Given the description of an element on the screen output the (x, y) to click on. 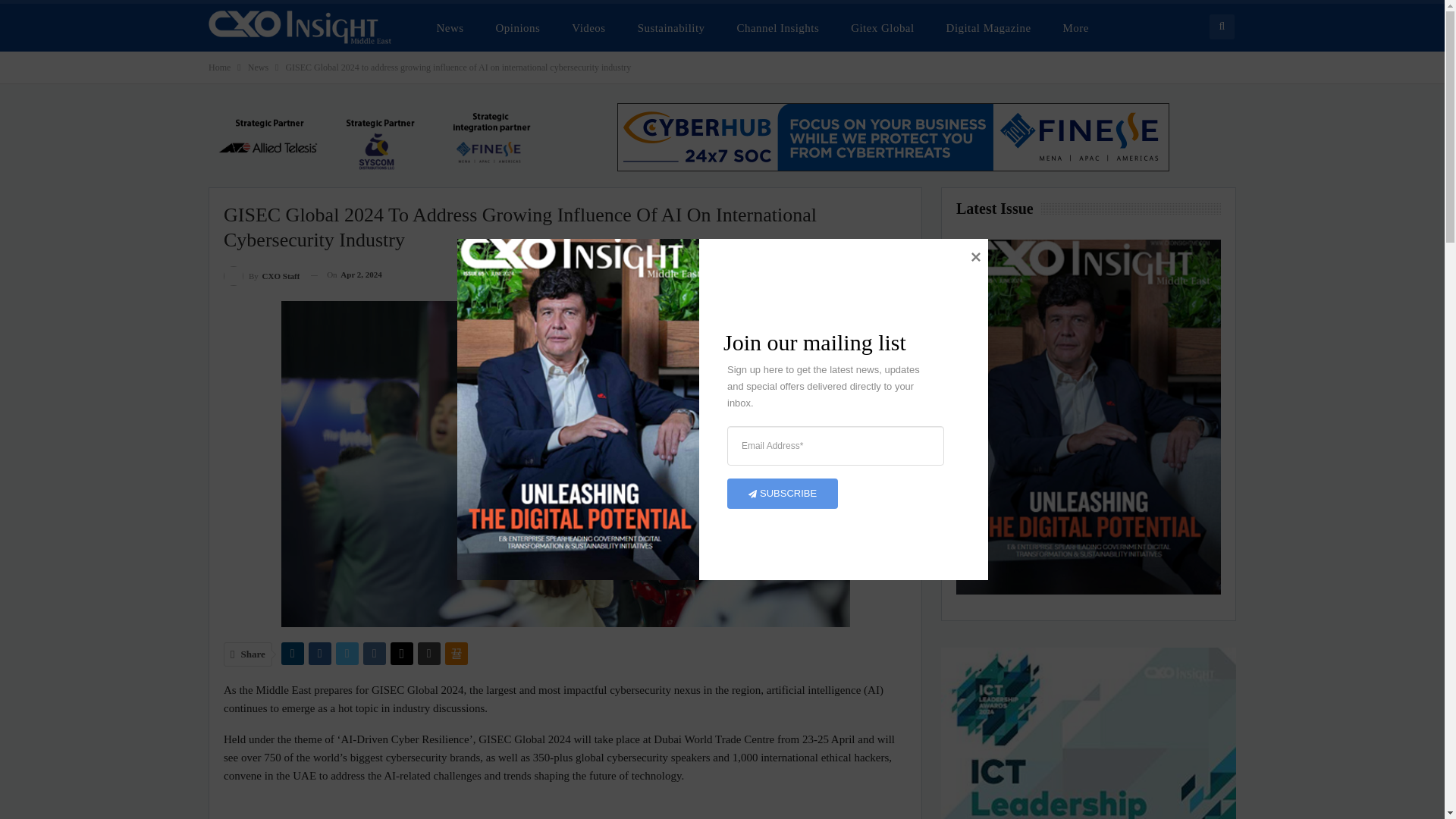
More (1075, 27)
Sustainability (671, 27)
Browse Author Articles (261, 274)
News (450, 27)
Gitex Global (882, 27)
Videos (588, 27)
Channel Insights (778, 27)
Opinions (518, 27)
Digital Magazine (988, 27)
